Given the description of an element on the screen output the (x, y) to click on. 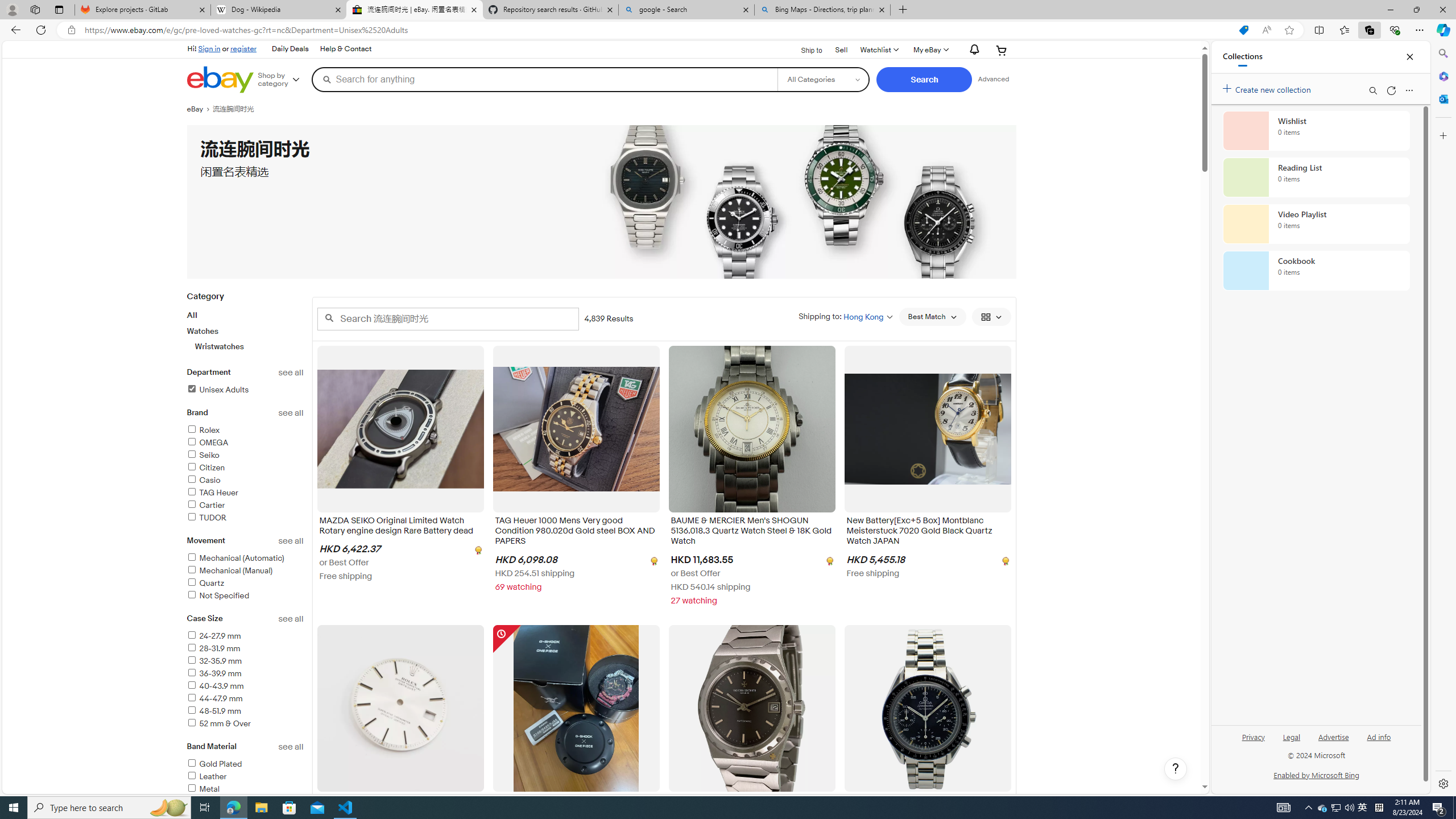
Unisex AdultsFilter Applied (245, 389)
Quartz (205, 583)
TUDOR (245, 518)
TAG Heuer (245, 493)
Mechanical (Automatic) (234, 558)
Create new collection (1268, 87)
